Given the description of an element on the screen output the (x, y) to click on. 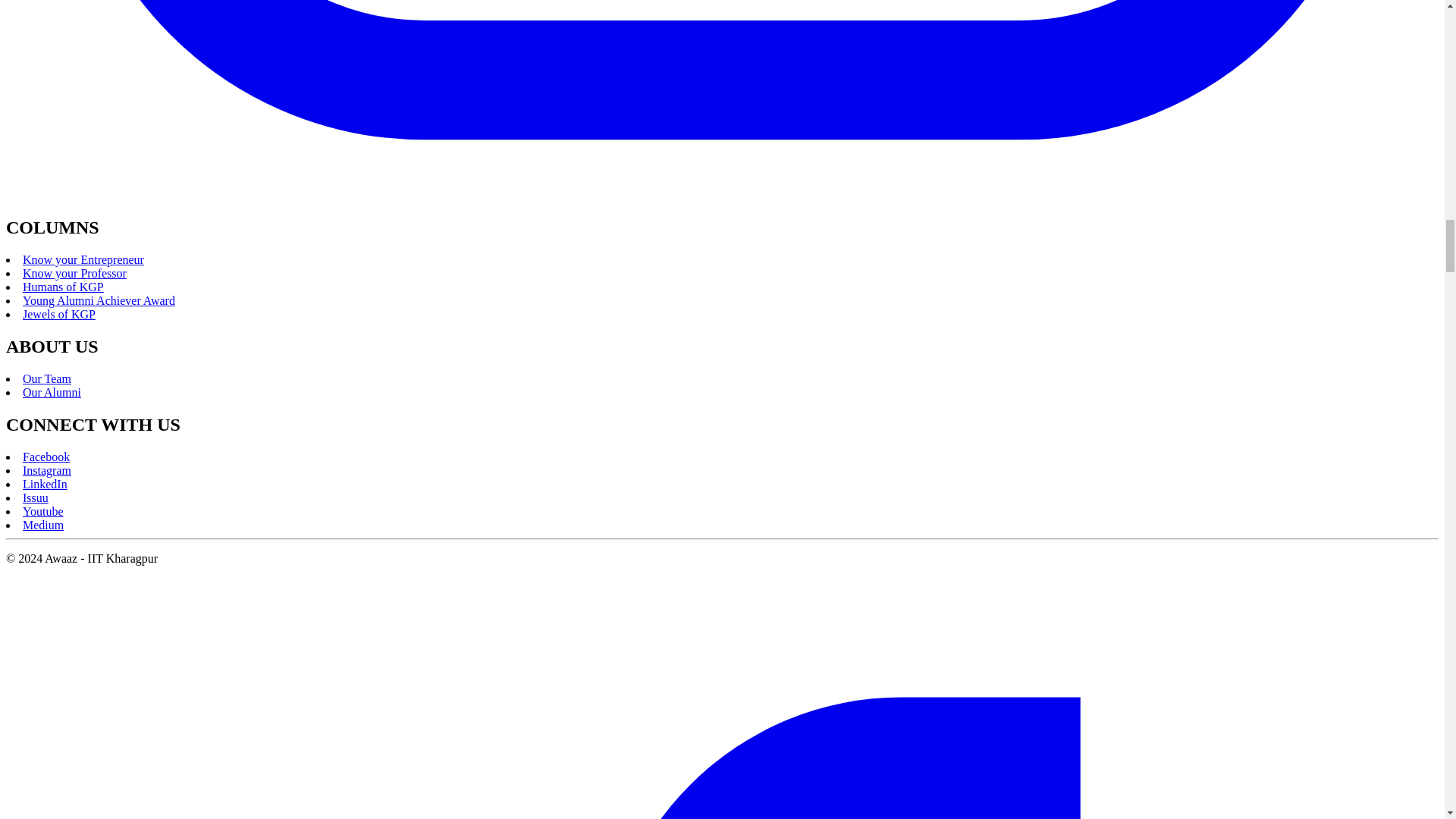
Jewels of KGP (59, 314)
Know your Professor (74, 273)
Our Alumni (52, 391)
Humans of KGP (63, 286)
Facebook (46, 456)
Our Team (47, 378)
Know your Entrepreneur (83, 259)
Young Alumni Achiever Award (98, 300)
